Given the description of an element on the screen output the (x, y) to click on. 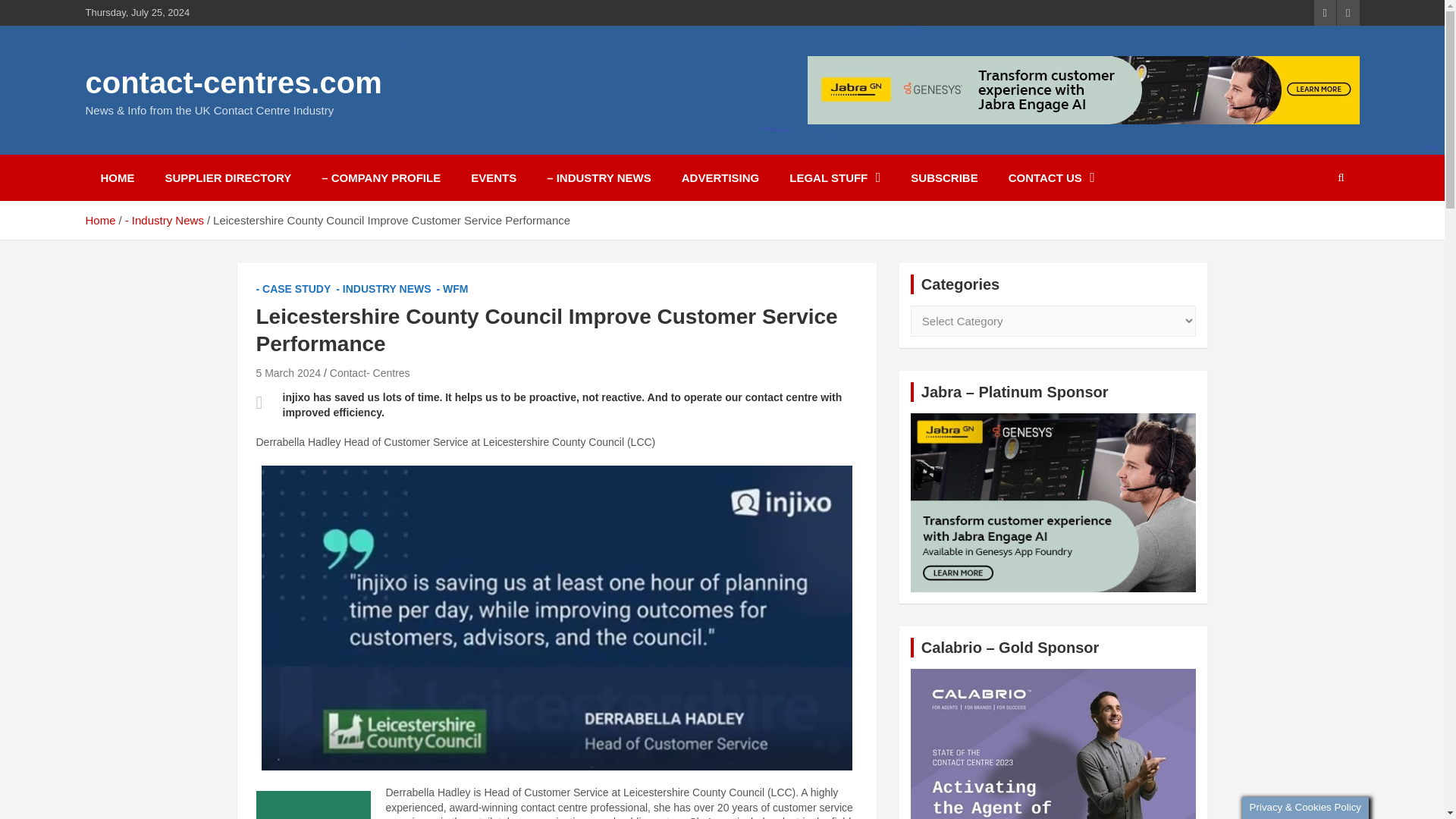
Contact- Centres (370, 372)
- CASE STUDY (293, 289)
- INDUSTRY NEWS (383, 289)
Home (99, 219)
HOME (116, 177)
EVENTS (493, 177)
LEGAL STUFF (834, 177)
- WFM (452, 289)
contact-centres.com (232, 82)
- Industry News (164, 219)
CONTACT US (1050, 177)
ADVERTISING (720, 177)
SUPPLIER DIRECTORY (228, 177)
SUBSCRIBE (943, 177)
